Given the description of an element on the screen output the (x, y) to click on. 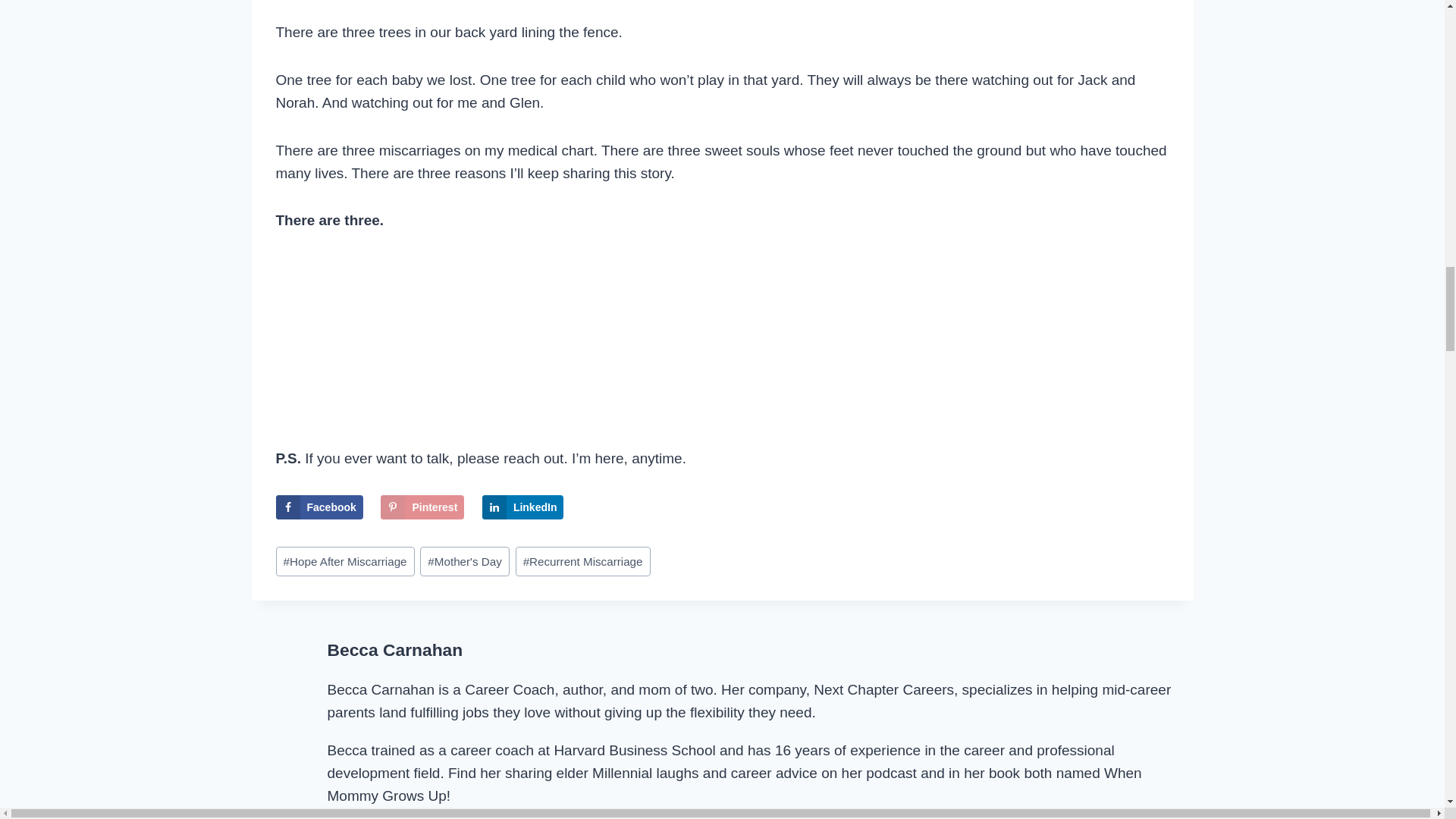
Share on LinkedIn (522, 507)
Recurrent Miscarriage (582, 561)
Save to Pinterest (422, 507)
Hope After Miscarriage (345, 561)
LinkedIn (522, 507)
Share on Facebook (319, 507)
Pinterest (422, 507)
Posts by Becca Carnahan (395, 649)
Mother's Day (464, 561)
Facebook (319, 507)
Becca Carnahan (395, 649)
